Given the description of an element on the screen output the (x, y) to click on. 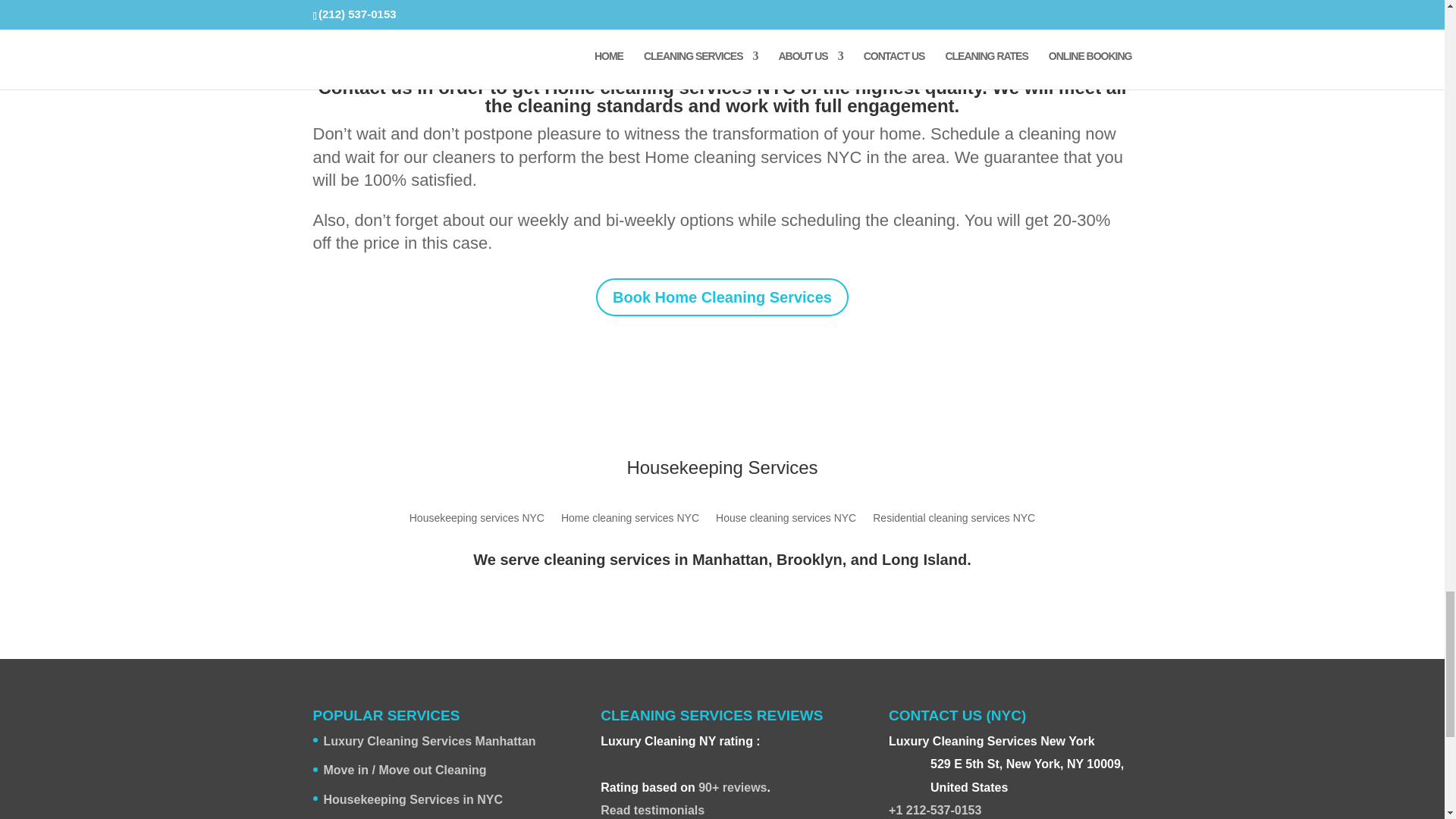
Book Home Cleaning Services (721, 297)
Housekeeping Services in NYC (412, 799)
Residential cleaning services NYC (953, 520)
Housekeeping services NYC (476, 520)
Luxury Cleaning Services Manhattan (429, 740)
Gorgeous (658, 758)
Gorgeous (645, 758)
Gorgeous (679, 775)
Gorgeous (605, 758)
House cleaning services NYC (786, 520)
Home cleaning services NYC (629, 520)
Gorgeous (632, 758)
Gorgeous (619, 758)
